Given the description of an element on the screen output the (x, y) to click on. 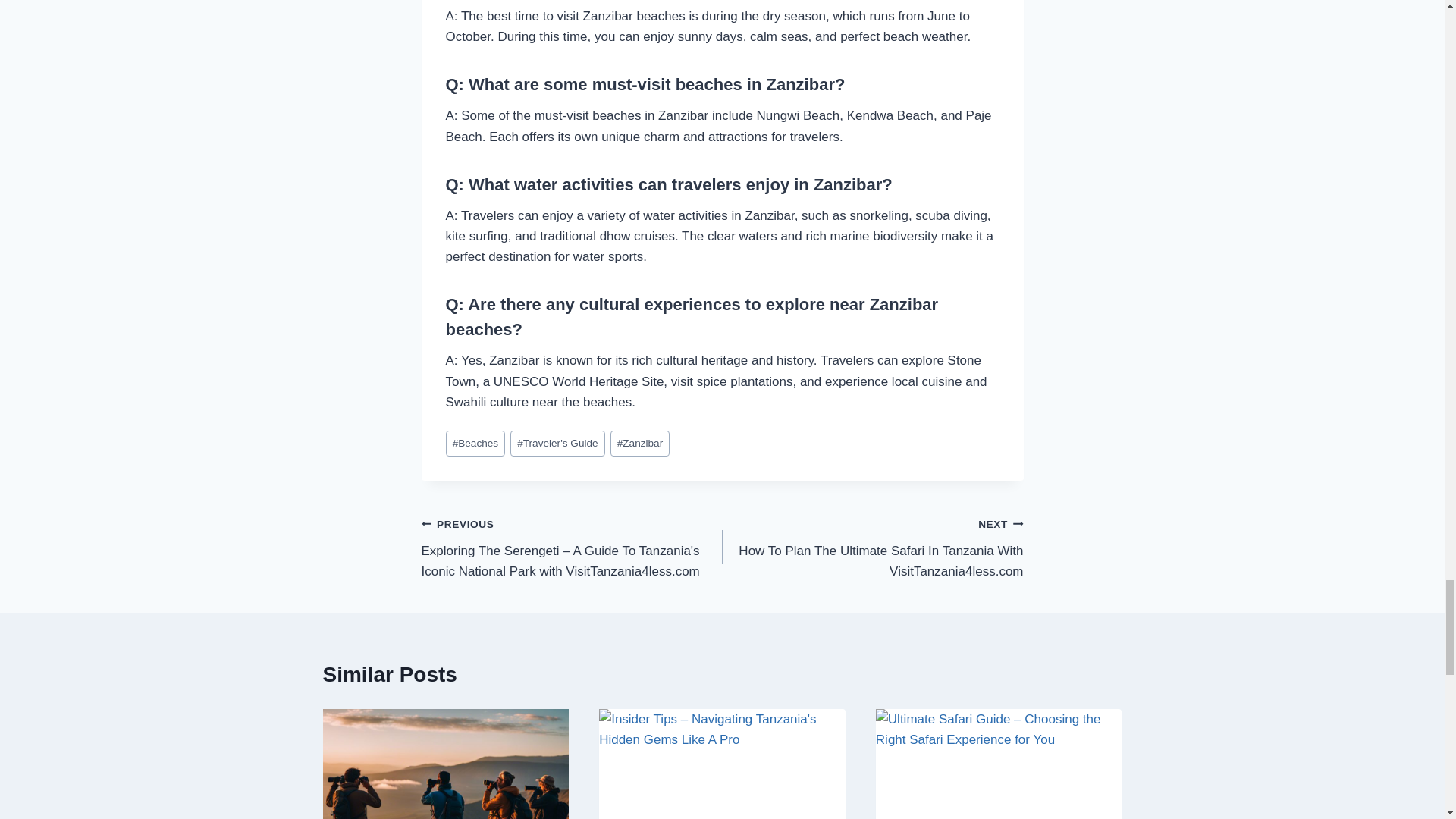
Zanzibar (639, 443)
Traveler's Guide (558, 443)
Beaches (475, 443)
